Given the description of an element on the screen output the (x, y) to click on. 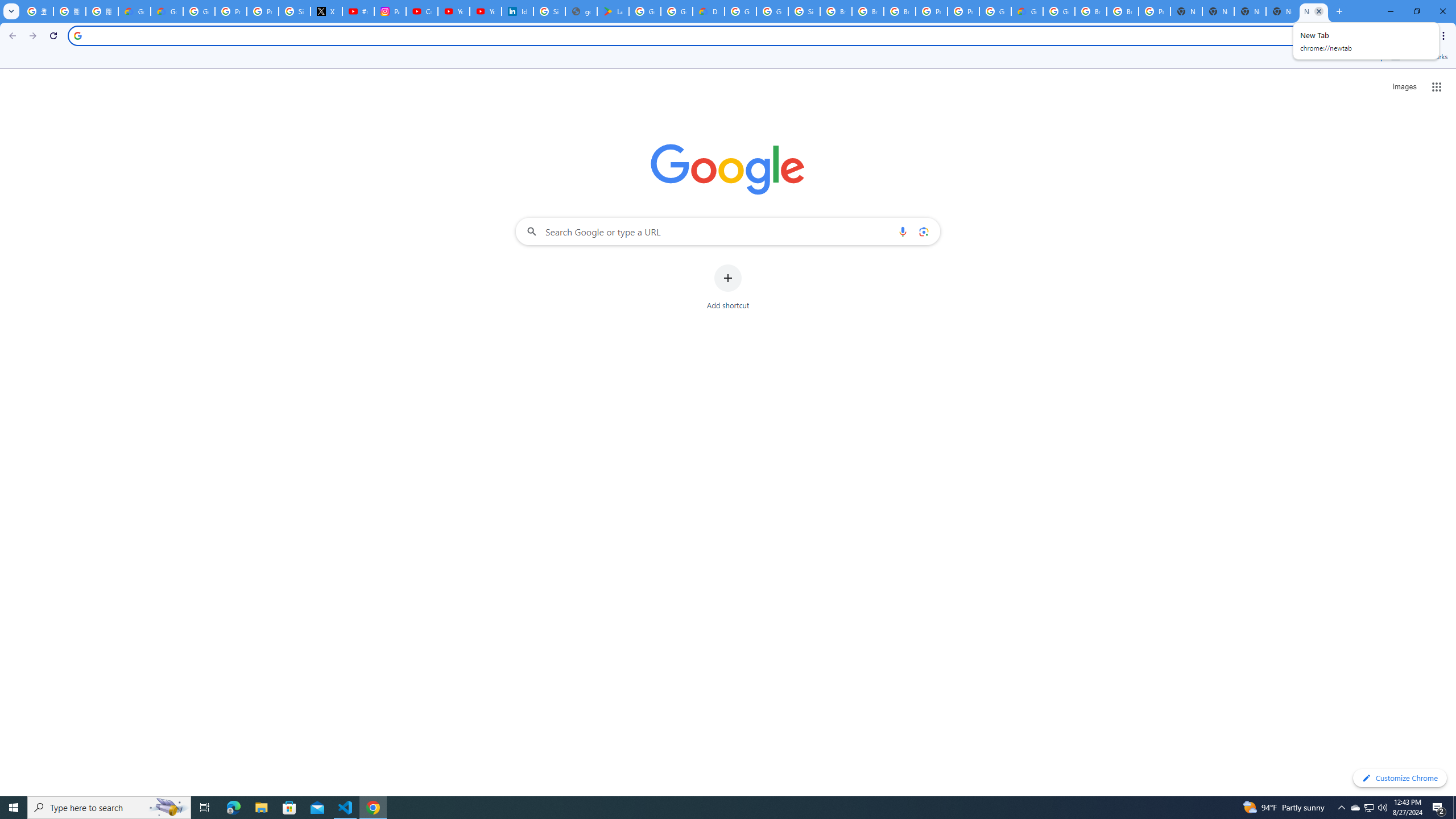
Browse Chrome as a guest - Computer - Google Chrome Help (899, 11)
#nbabasketballhighlights - YouTube (358, 11)
Identity verification via Persona | LinkedIn Help (517, 11)
All Bookmarks (1418, 56)
Sign in - Google Accounts (804, 11)
Last Shelter: Survival - Apps on Google Play (613, 11)
Google Cloud Platform (995, 11)
